Given the description of an element on the screen output the (x, y) to click on. 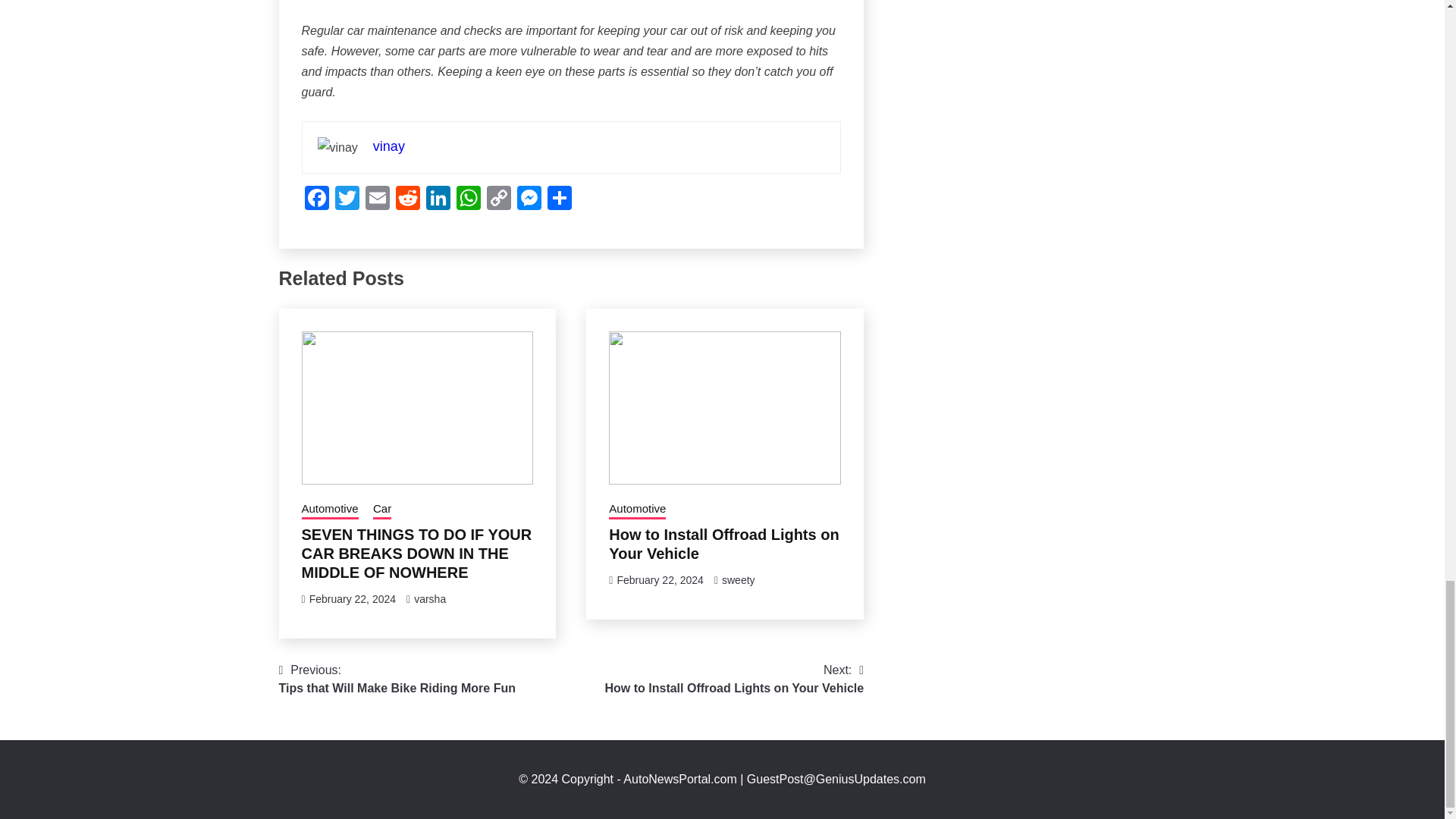
Reddit (408, 199)
Email (377, 199)
Twitter (346, 199)
LinkedIn (437, 199)
vinay (388, 145)
Facebook (316, 199)
Facebook (316, 199)
Twitter (346, 199)
